Given the description of an element on the screen output the (x, y) to click on. 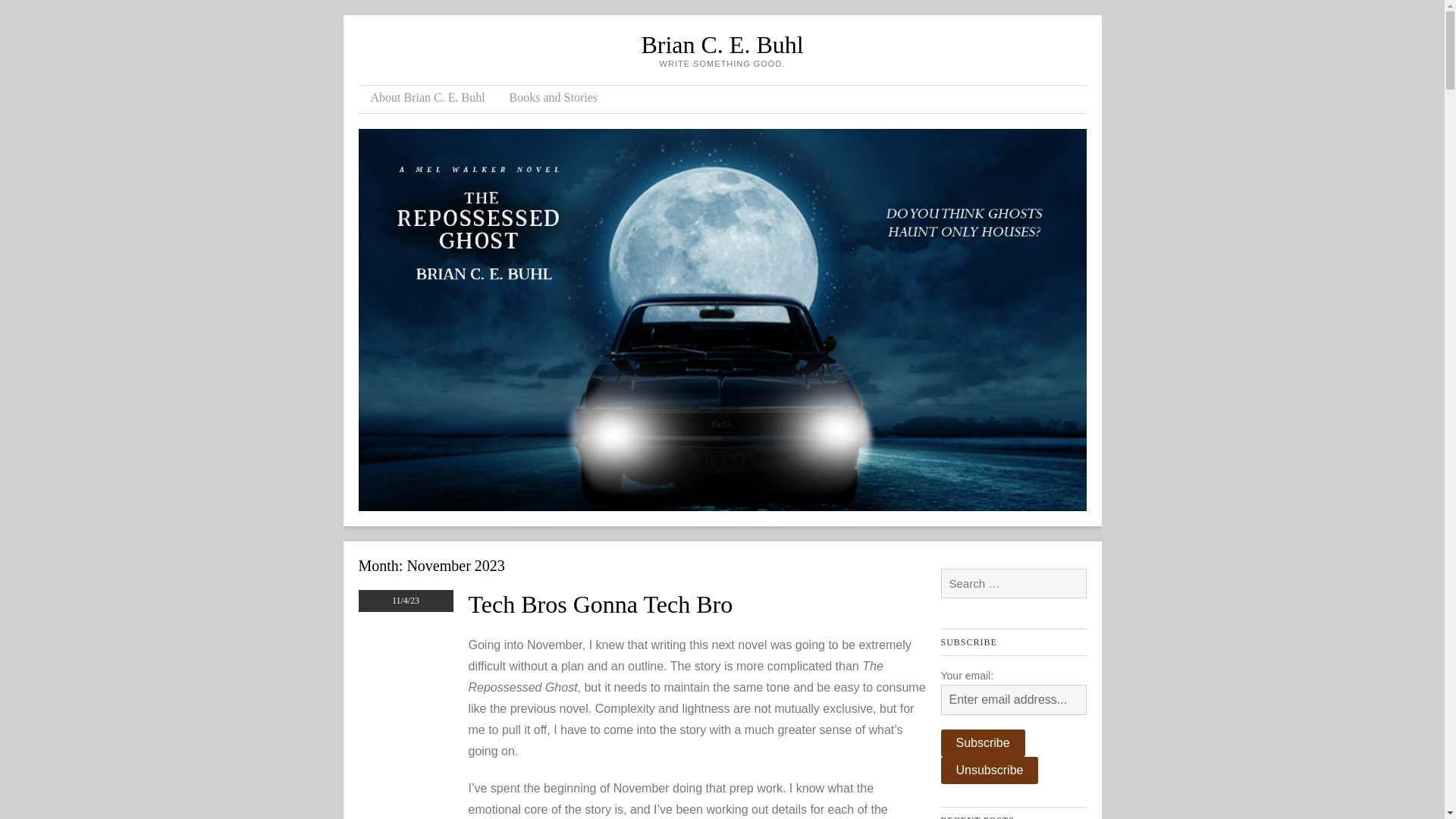
Subscribe (982, 742)
About Brian C. E. Buhl (427, 99)
Subscribe (982, 742)
Enter email address... (1013, 699)
Search (33, 13)
Books and Stories (553, 99)
Unsubscribe (989, 769)
Permalink to Tech Bros Gonna Tech Bro (600, 604)
Unsubscribe (989, 769)
Tech Bros Gonna Tech Bro (600, 604)
Brian C. E. Buhl (721, 44)
